Given the description of an element on the screen output the (x, y) to click on. 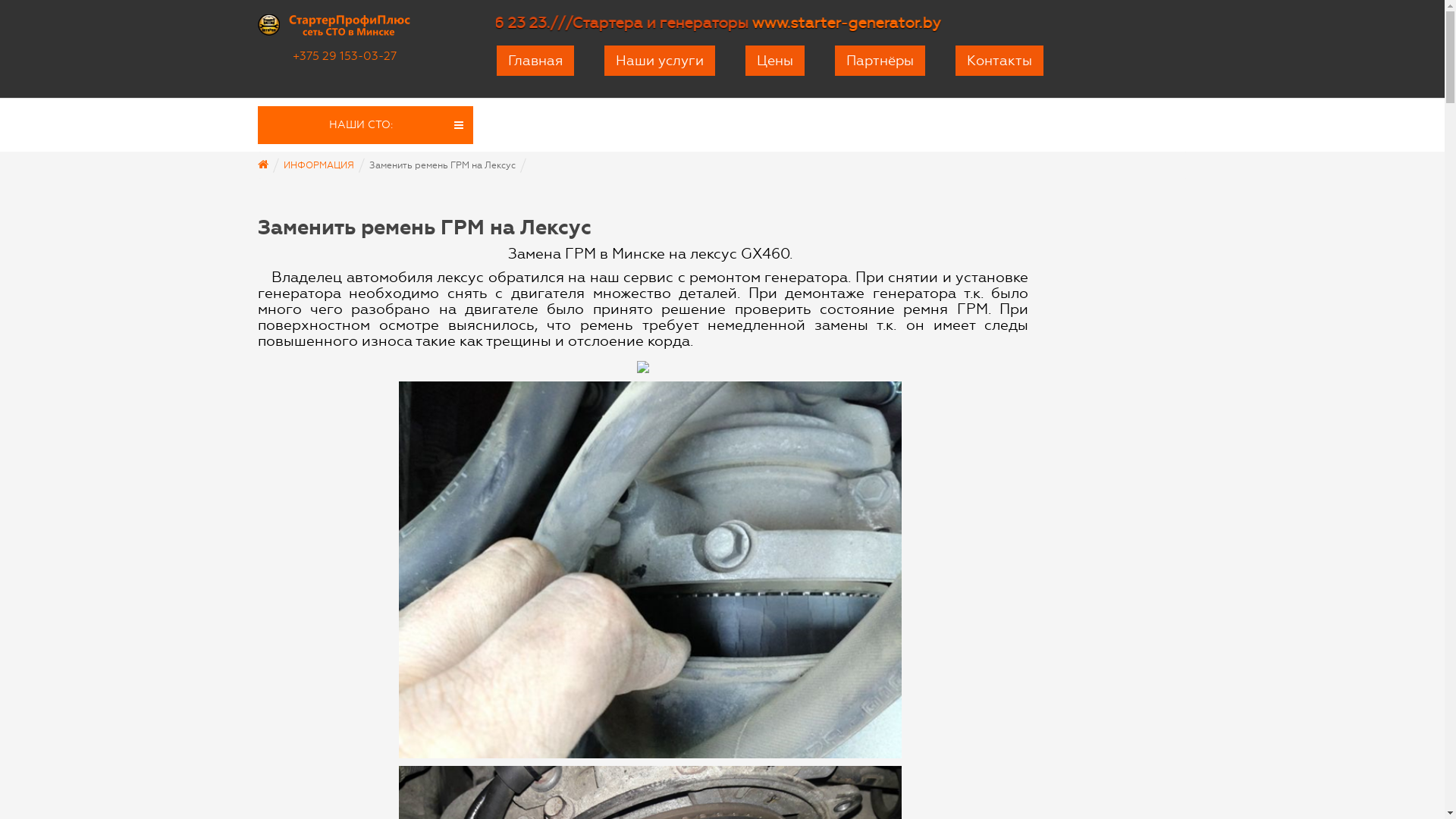
www.starter-generator.by Element type: text (1154, 22)
+375 29 153-03-27 Element type: text (344, 55)
